Given the description of an element on the screen output the (x, y) to click on. 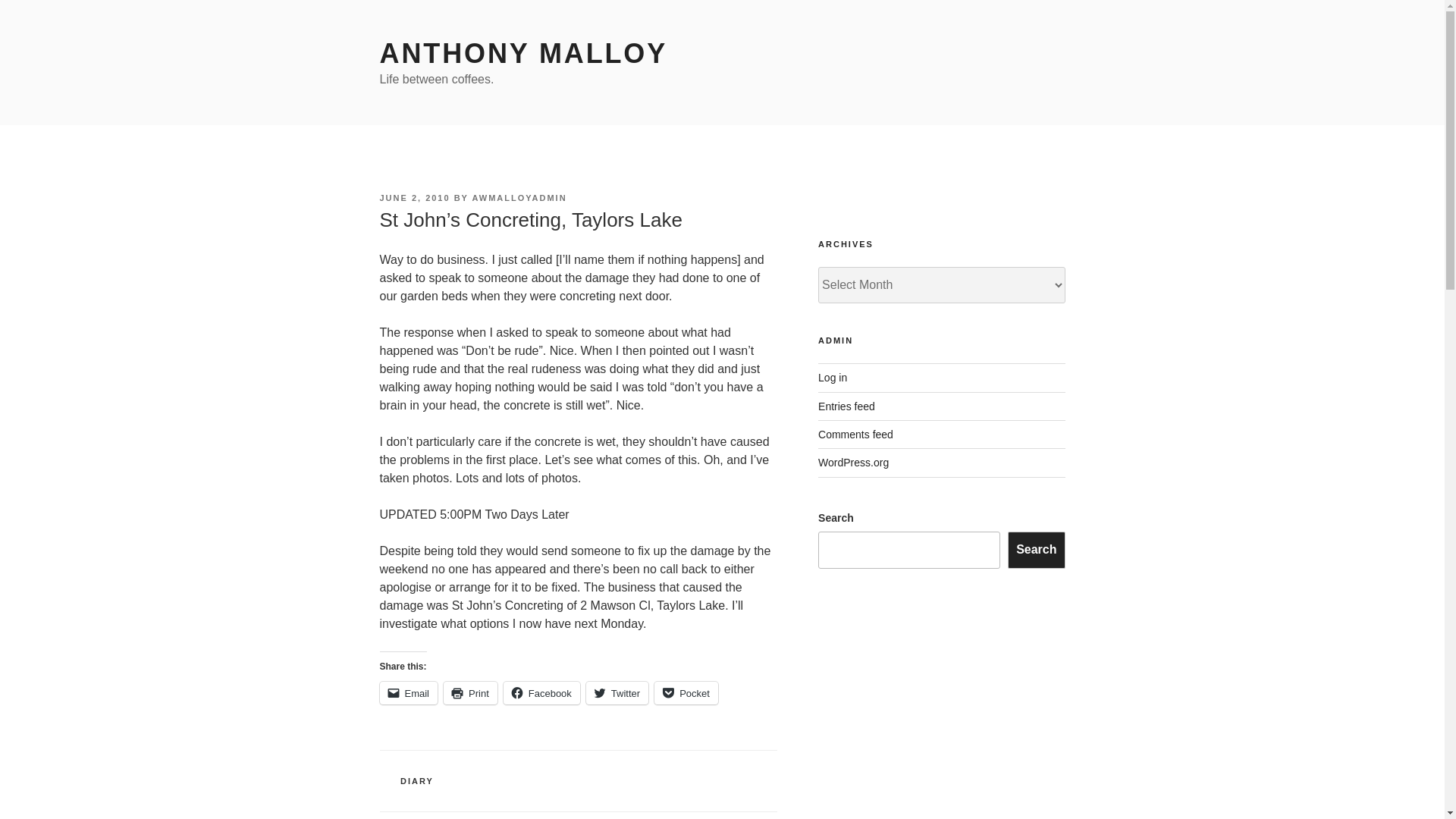
Entries feed (846, 406)
Print (470, 692)
WordPress.org (853, 462)
ANTHONY MALLOY (522, 52)
Pocket (685, 692)
Twitter (616, 692)
Facebook (541, 692)
Click to share on Twitter (616, 692)
AWMALLOYADMIN (518, 197)
Search (1035, 549)
